Given the description of an element on the screen output the (x, y) to click on. 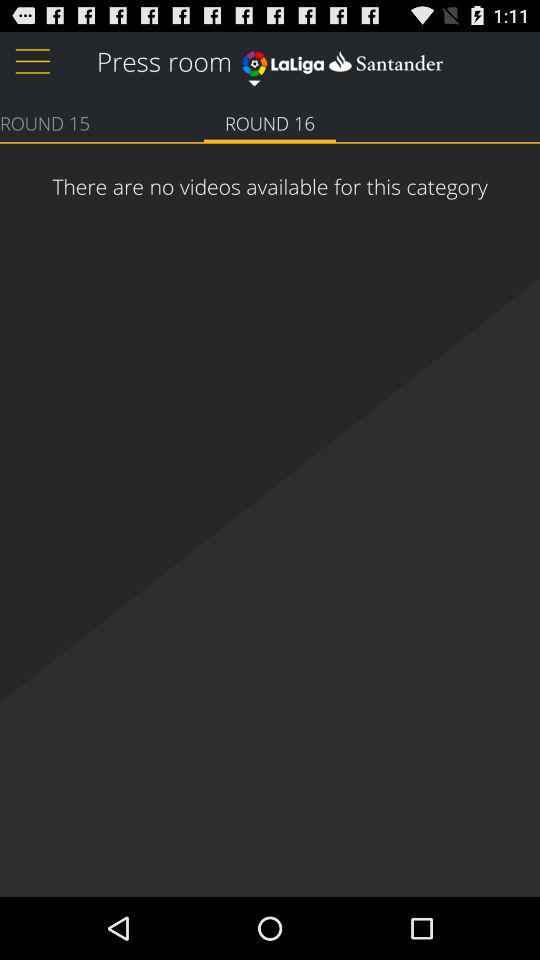
press the icon to the left of round 16 item (45, 122)
